Given the description of an element on the screen output the (x, y) to click on. 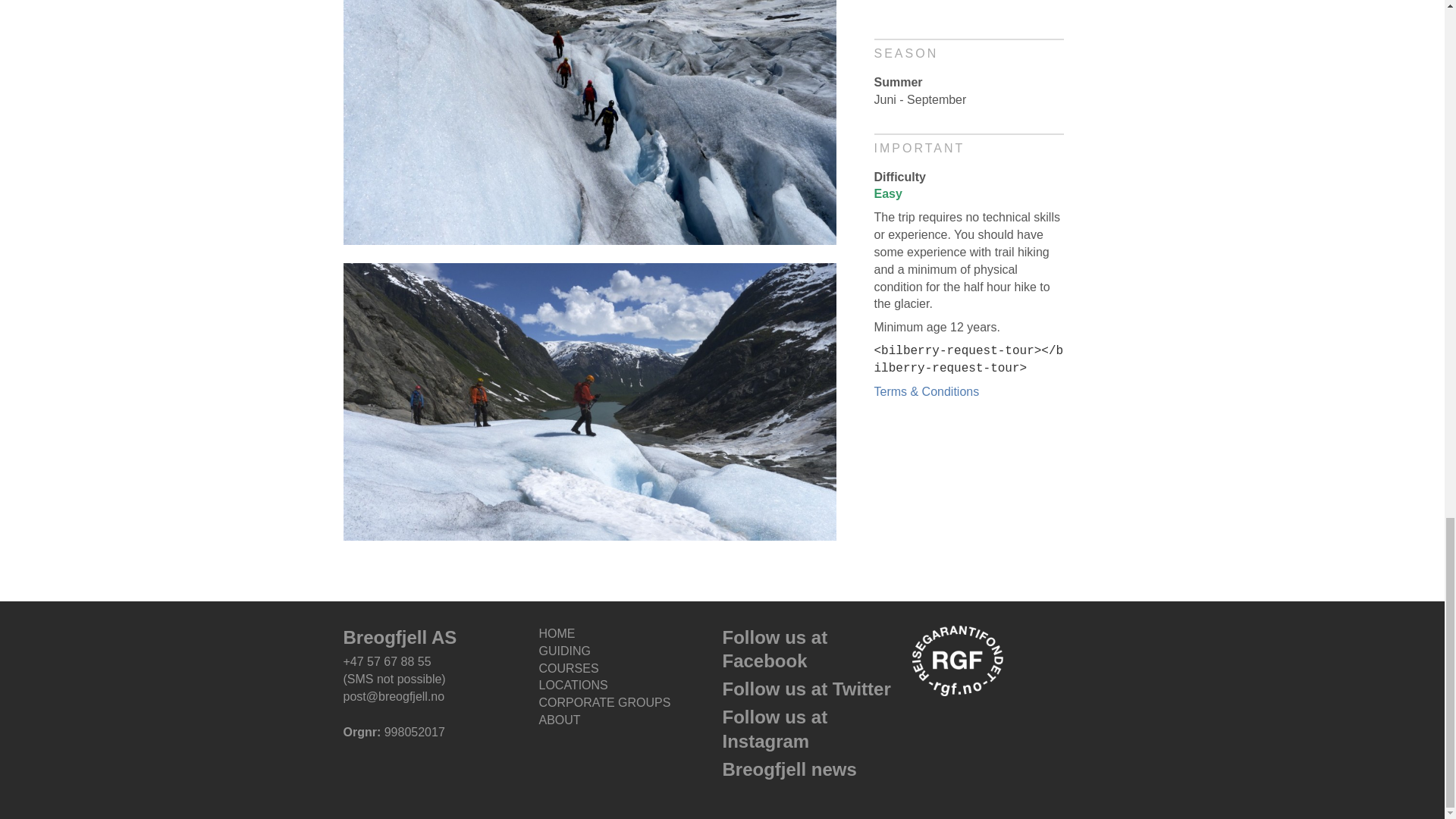
LOCATIONS (627, 685)
CORPORATE GROUPS (627, 702)
Follow us at Instagram (774, 728)
ABOUT (627, 720)
HOME (627, 633)
Breogfjell AS (399, 637)
COURSES (627, 669)
Follow us at Twitter (805, 688)
GUIDING (627, 651)
Breogfjell news (789, 769)
Follow us at Facebook (774, 648)
